Given the description of an element on the screen output the (x, y) to click on. 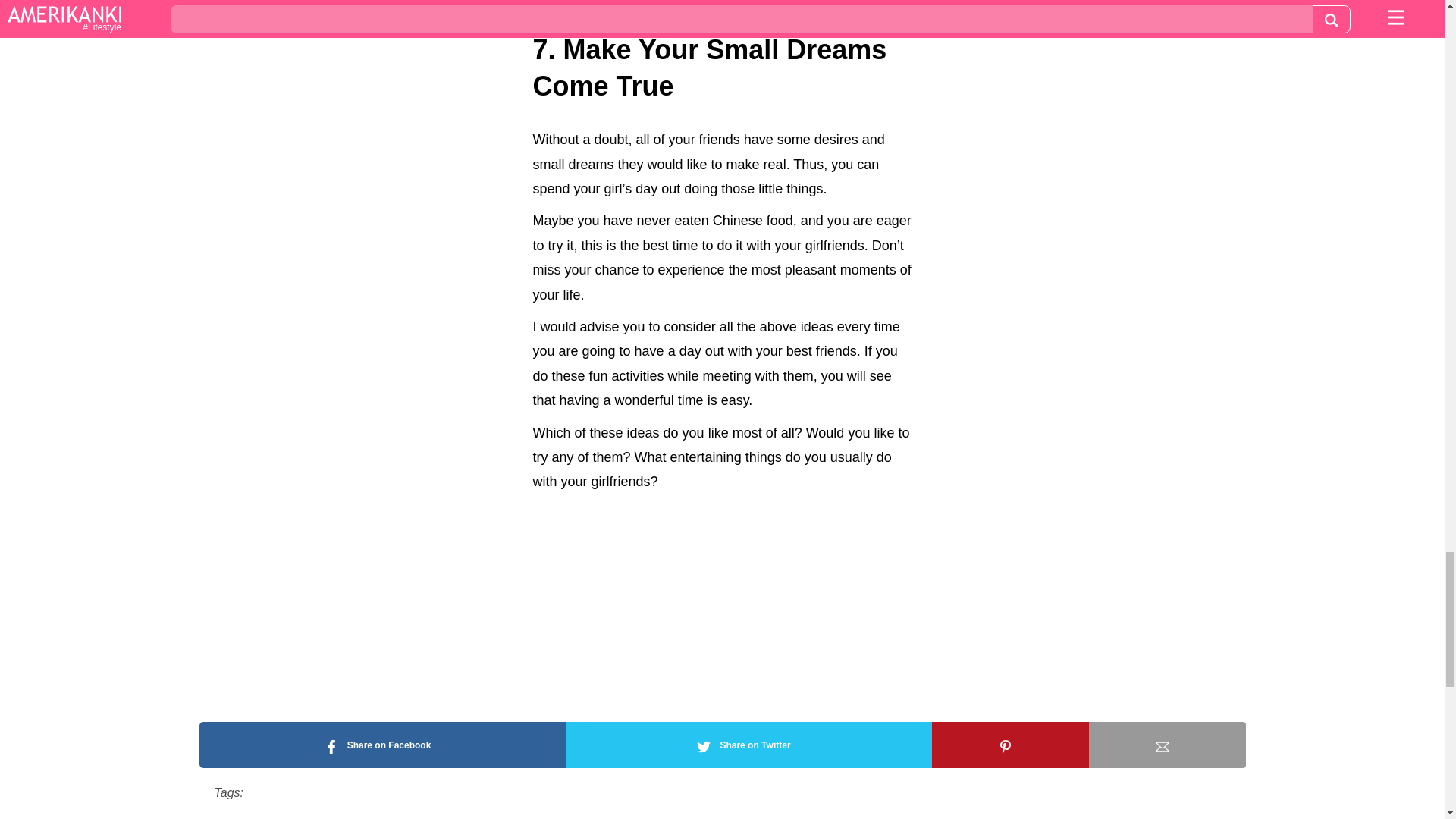
Share on Twitter (748, 744)
Share on Facebook (381, 744)
21 Best Ways to Start a Conversation with a Man (730, 11)
